Given the description of an element on the screen output the (x, y) to click on. 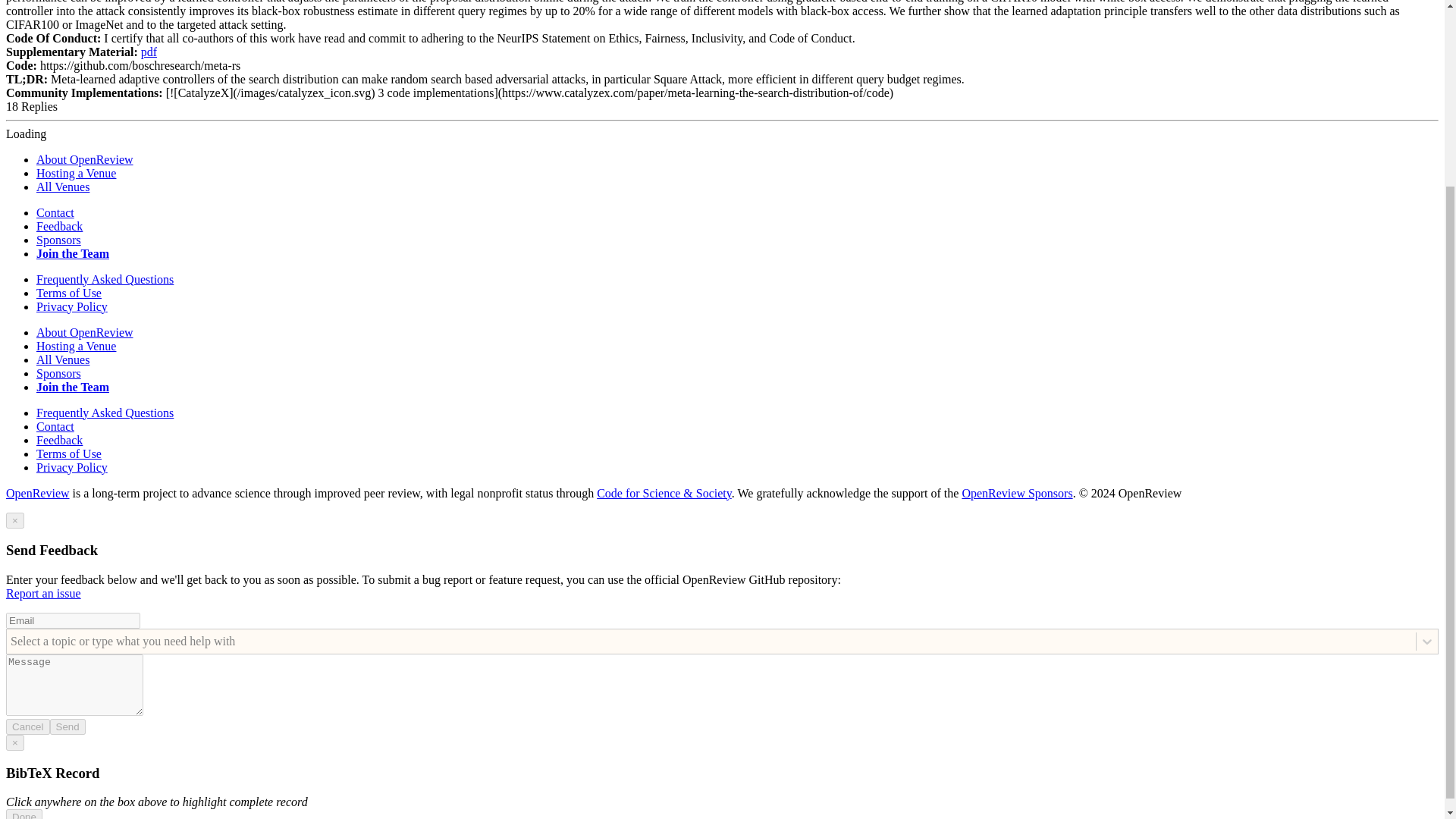
Hosting a Venue (76, 345)
Download Supplementary Material (149, 51)
Sponsors (58, 239)
Feedback (59, 440)
Terms of Use (68, 453)
Contact (55, 426)
Frequently Asked Questions (104, 278)
pdf (149, 51)
All Venues (62, 359)
About OpenReview (84, 159)
Send (67, 726)
Sponsors (58, 373)
About OpenReview (84, 332)
Report an issue (43, 593)
Feedback (59, 226)
